Given the description of an element on the screen output the (x, y) to click on. 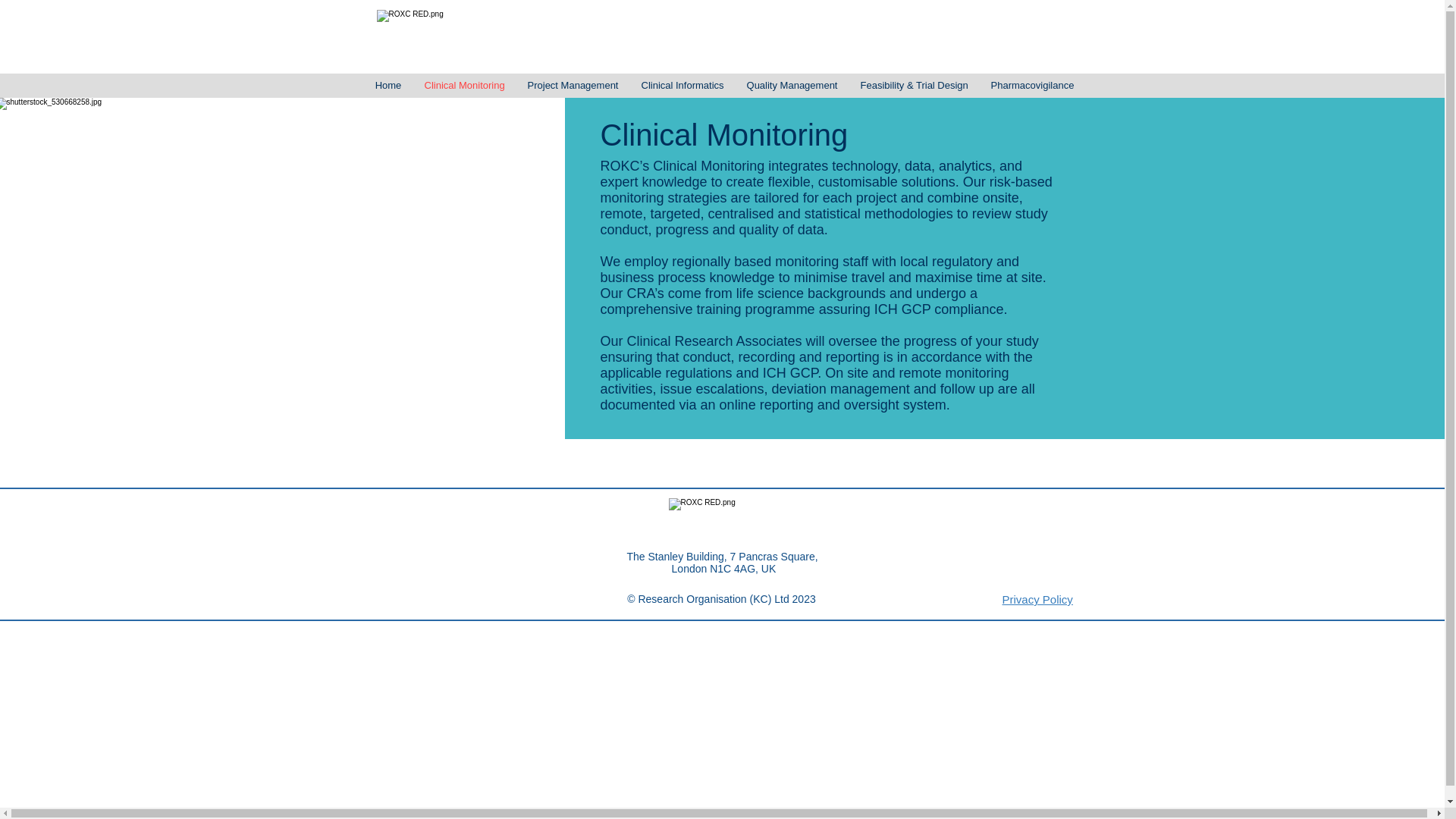
Home (388, 85)
Project Management (571, 85)
Privacy Policy (1038, 599)
Clinical Monitoring (463, 85)
Pharmacovigilance (1032, 85)
Clinical Informatics (681, 85)
Quality Management (791, 85)
